Given the description of an element on the screen output the (x, y) to click on. 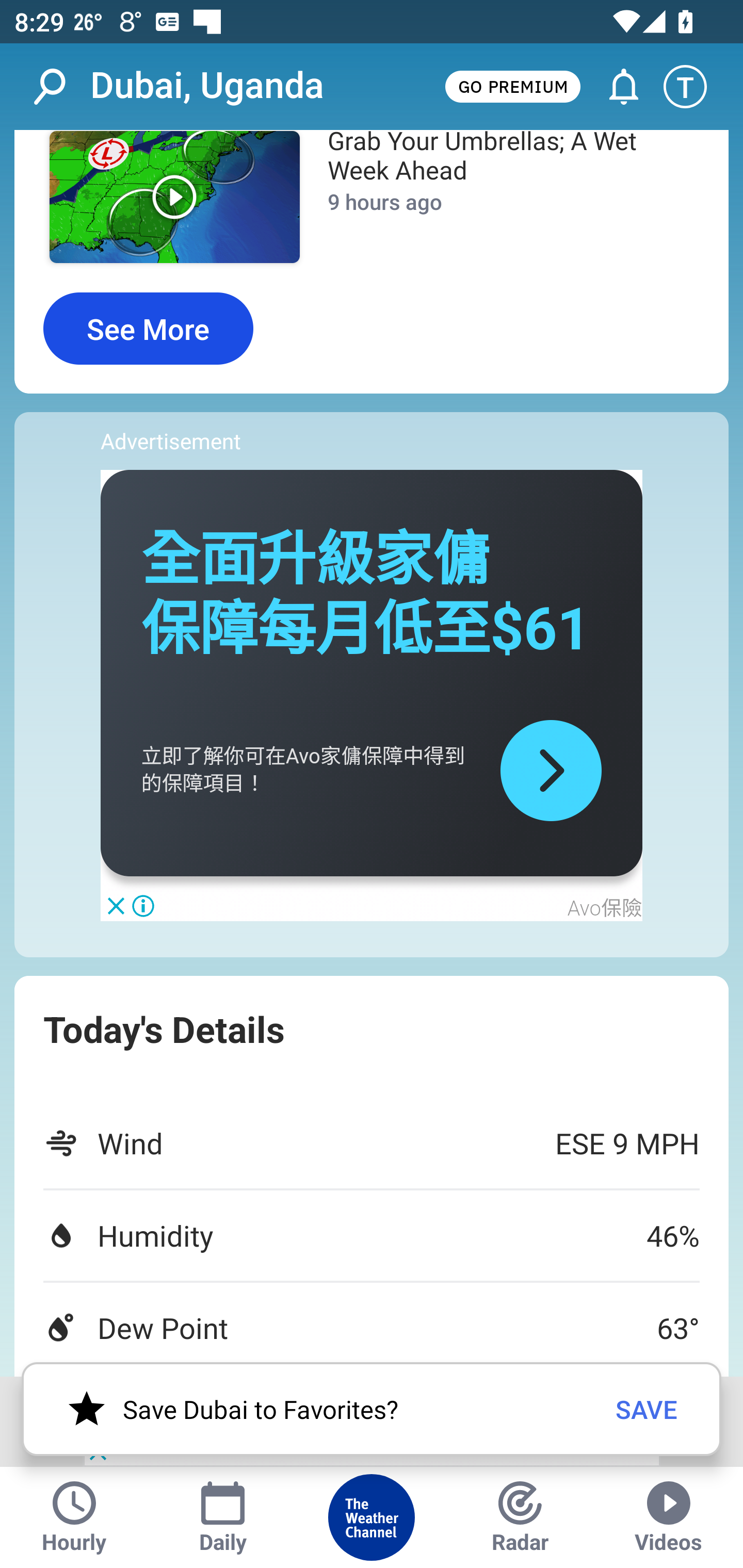
Search (59, 86)
Go to Alerts and Notifications (614, 86)
Setting icon T (694, 86)
Dubai, Uganda (206, 85)
GO PREMIUM (512, 85)
Grab Your Umbrellas; A Wet Week Ahead 9 hours ago (502, 200)
Play (174, 197)
See More (148, 329)
全面升級家傭 保障每月低至$61 全面升級家傭 保障每月低至$61 (366, 593)
helper (550, 770)
立即了解你可在Avo家傭保障中得到 的保障項目！ 立即了解你可在Avo家傭保障中得到 的保障項目！ (303, 770)
Avo保險 (604, 908)
Save Dubai to Favorites? SAVE (371, 1409)
SAVE (646, 1408)
Hourly Tab Hourly (74, 1517)
Daily Tab Daily (222, 1517)
Radar Tab Radar (519, 1517)
Videos Tab Videos (668, 1517)
